Given the description of an element on the screen output the (x, y) to click on. 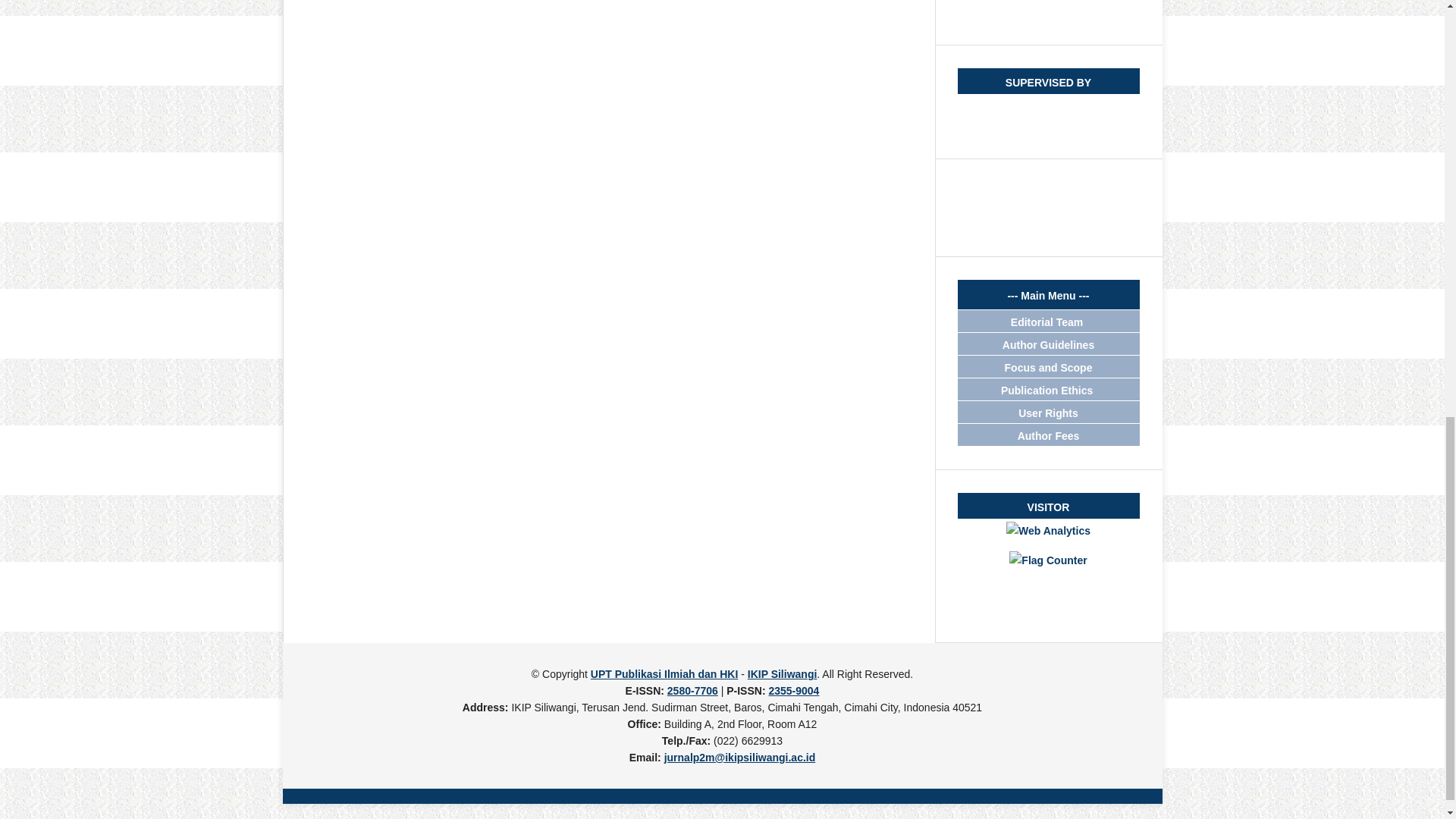
Author Guidelines (1048, 345)
Editorial Team  (1048, 322)
